Given the description of an element on the screen output the (x, y) to click on. 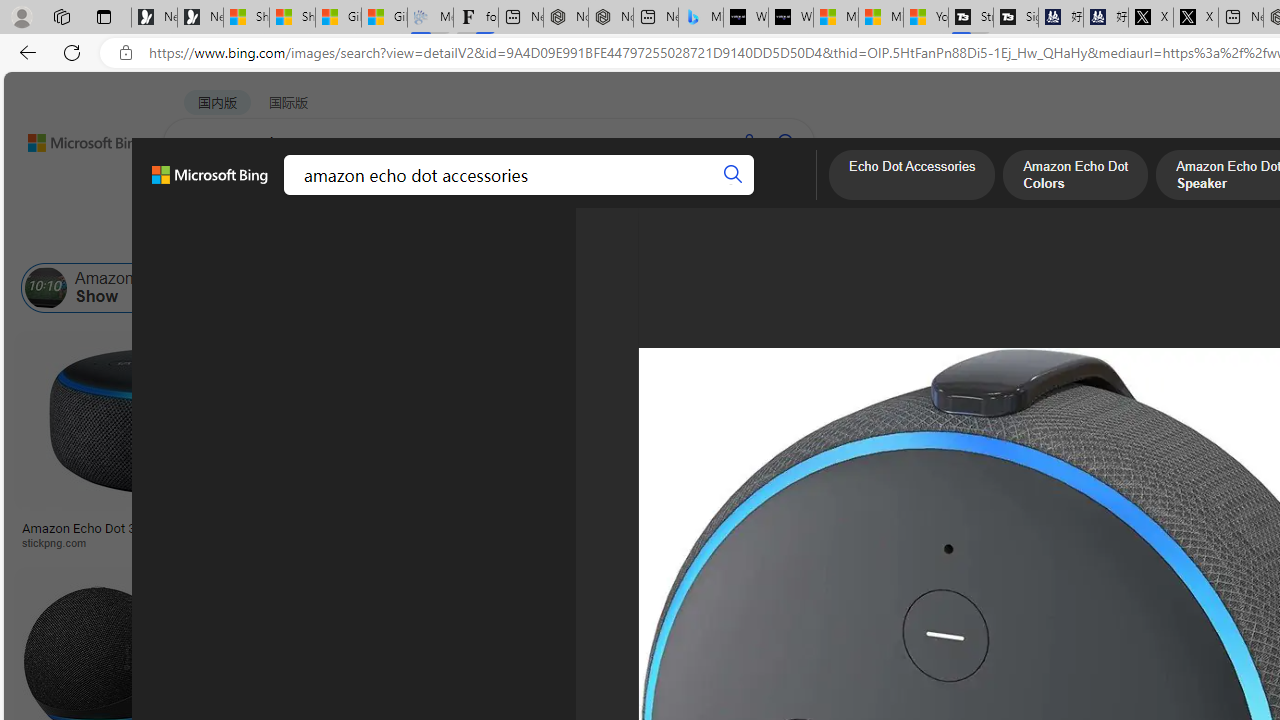
MAPS (698, 195)
ACADEMIC (548, 195)
Date (591, 237)
Amazon Echo Dot 4th Gen (995, 400)
stickpng.herokuapp.com (600, 541)
IMAGES (274, 196)
Class: b_pri_nav_svg (336, 196)
Class: item col (1070, 287)
FrAndroid (800, 542)
Layout (443, 237)
